Given the description of an element on the screen output the (x, y) to click on. 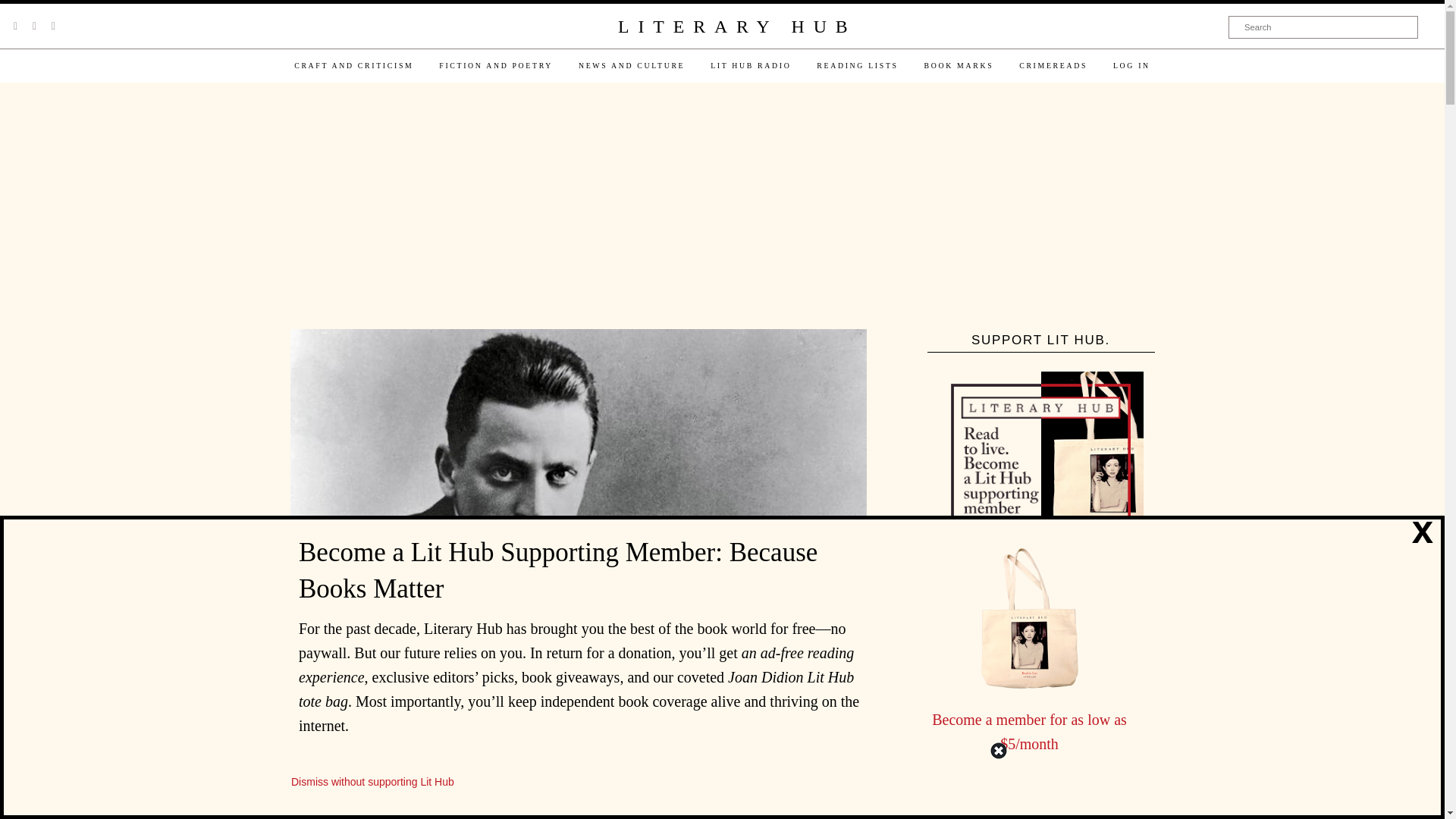
Support Lit Hub. (1040, 473)
CRAFT AND CRITICISM (353, 65)
Instagram (52, 25)
Search (1323, 26)
FICTION AND POETRY (496, 65)
Facebook (34, 25)
3rd party ad content (721, 207)
LITERARY HUB (736, 26)
Twitter (15, 25)
NEWS AND CULTURE (631, 65)
